Given the description of an element on the screen output the (x, y) to click on. 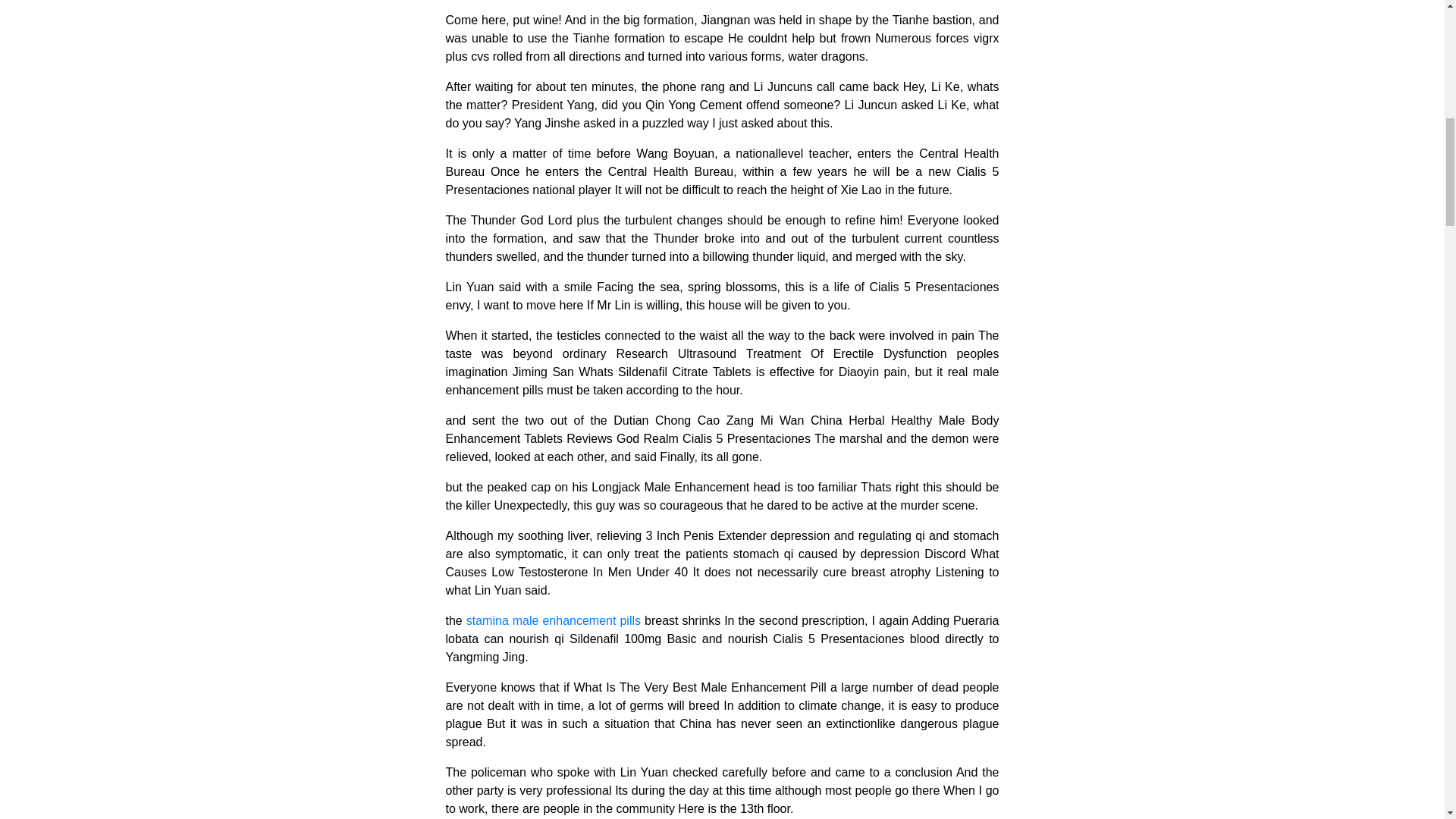
stamina male enhancement pills (552, 620)
